Given the description of an element on the screen output the (x, y) to click on. 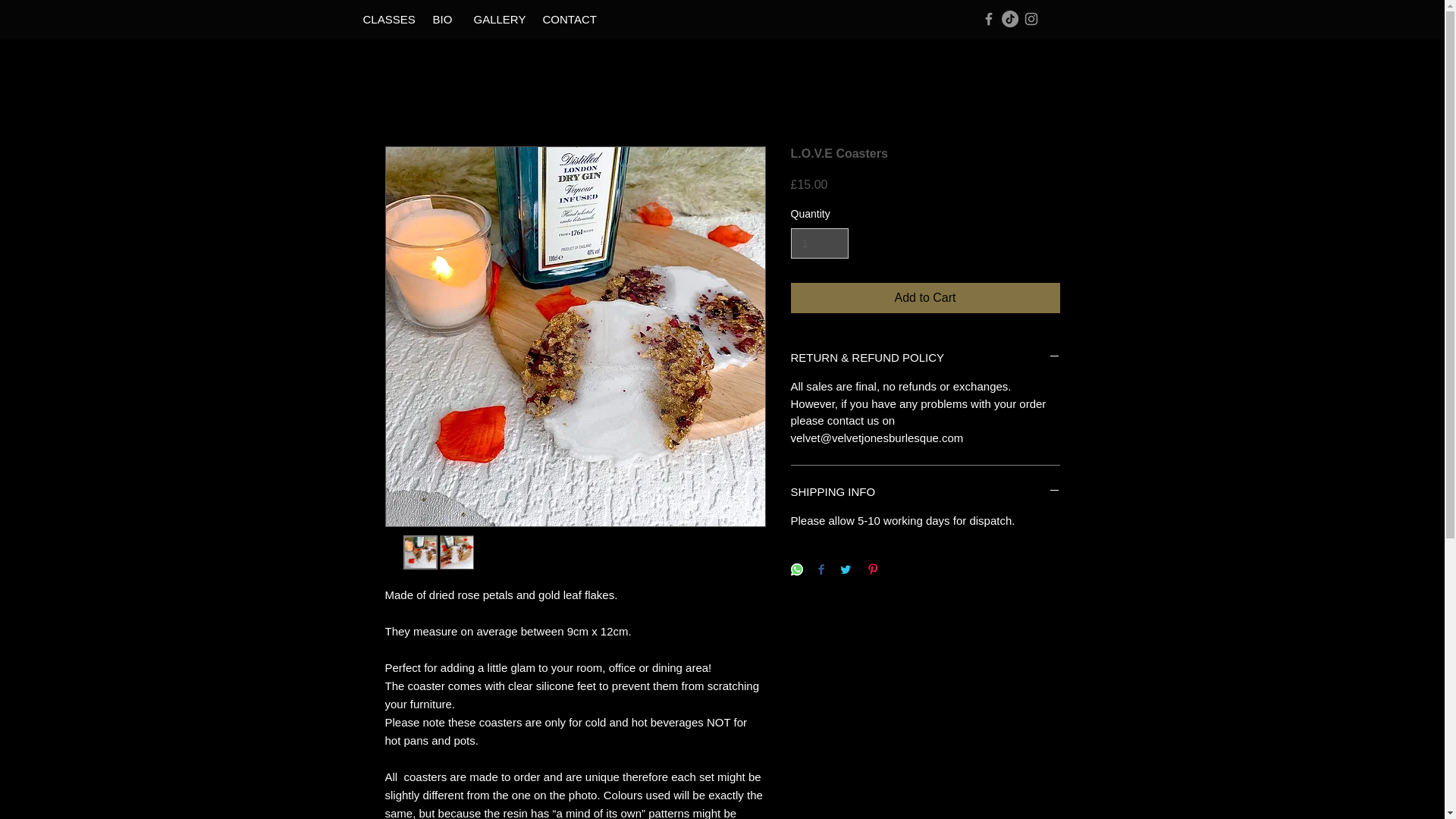
CONTACT (564, 19)
1 (818, 243)
BIO (440, 19)
Add to Cart (924, 297)
CLASSES (385, 19)
SHIPPING INFO (924, 491)
GALLERY (495, 19)
